Given the description of an element on the screen output the (x, y) to click on. 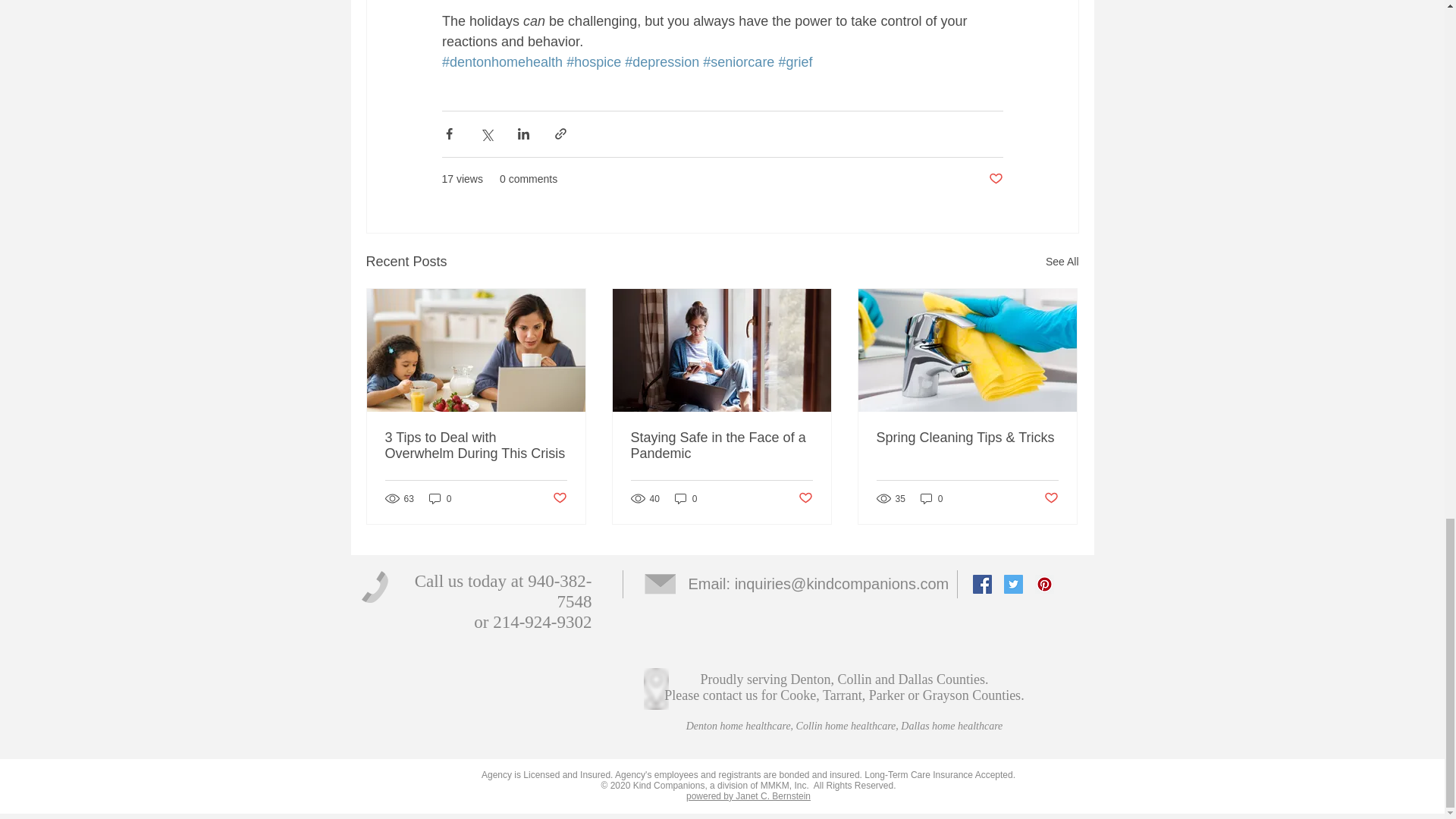
0 (440, 498)
Staying Safe in the Face of a Pandemic (721, 445)
See All (1061, 261)
Post not marked as liked (558, 498)
Post not marked as liked (1050, 498)
0 (931, 498)
0 (685, 498)
Post not marked as liked (995, 179)
3 Tips to Deal with Overwhelm During This Crisis (476, 445)
Post not marked as liked (804, 498)
